Given the description of an element on the screen output the (x, y) to click on. 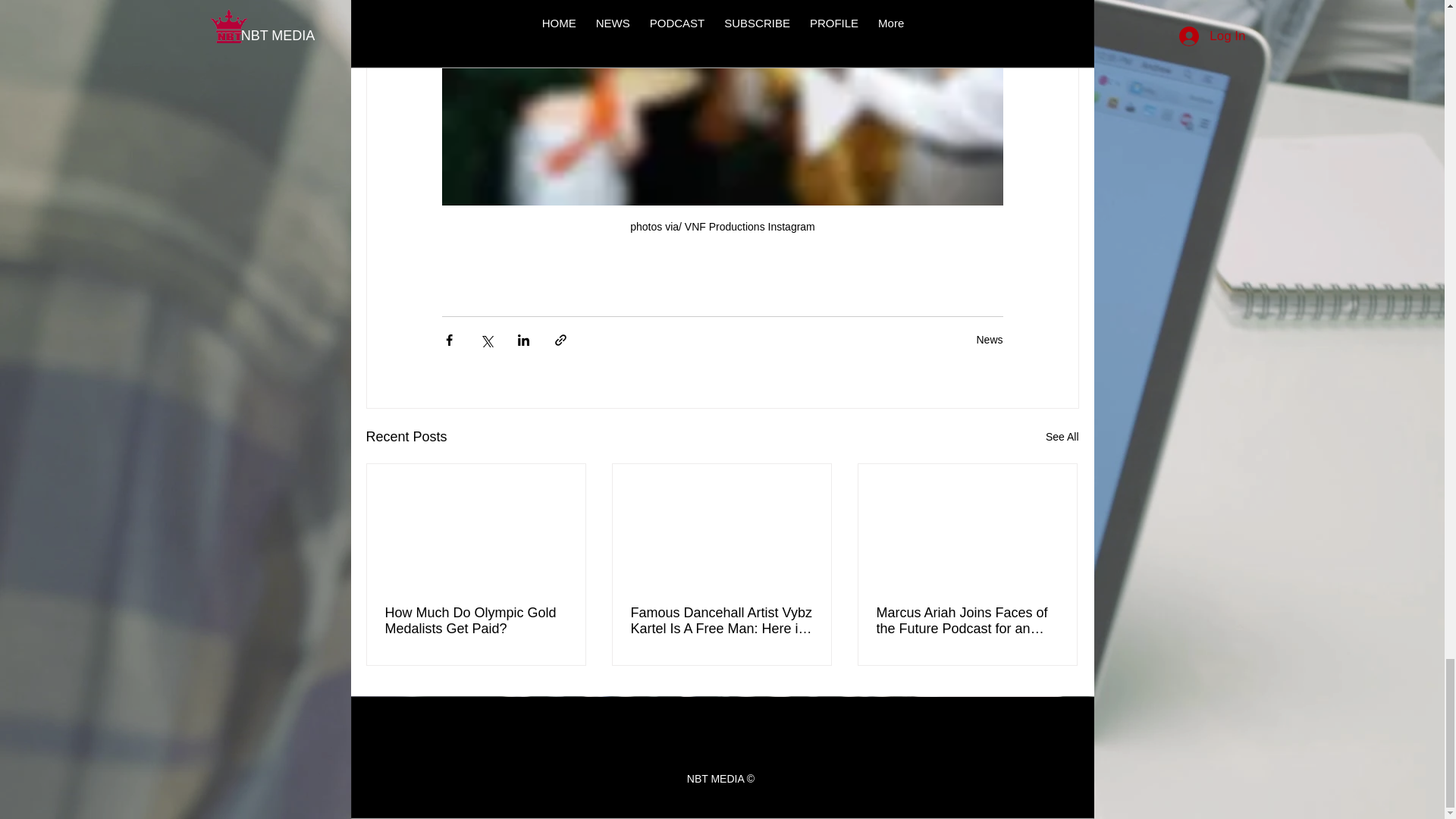
News (989, 339)
How Much Do Olympic Gold Medalists Get Paid? (476, 621)
See All (1061, 436)
